Given the description of an element on the screen output the (x, y) to click on. 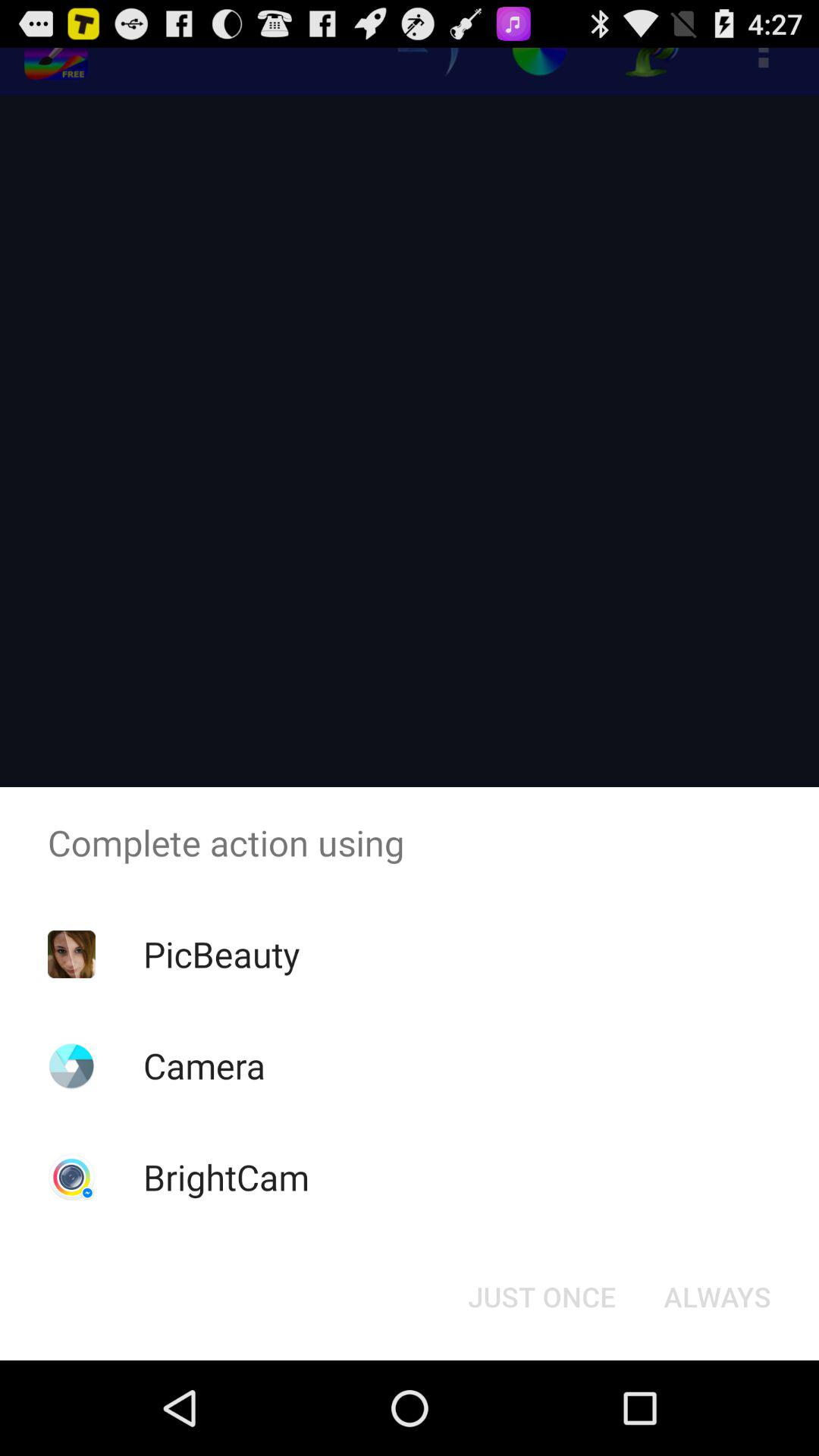
open icon above camera icon (221, 953)
